Given the description of an element on the screen output the (x, y) to click on. 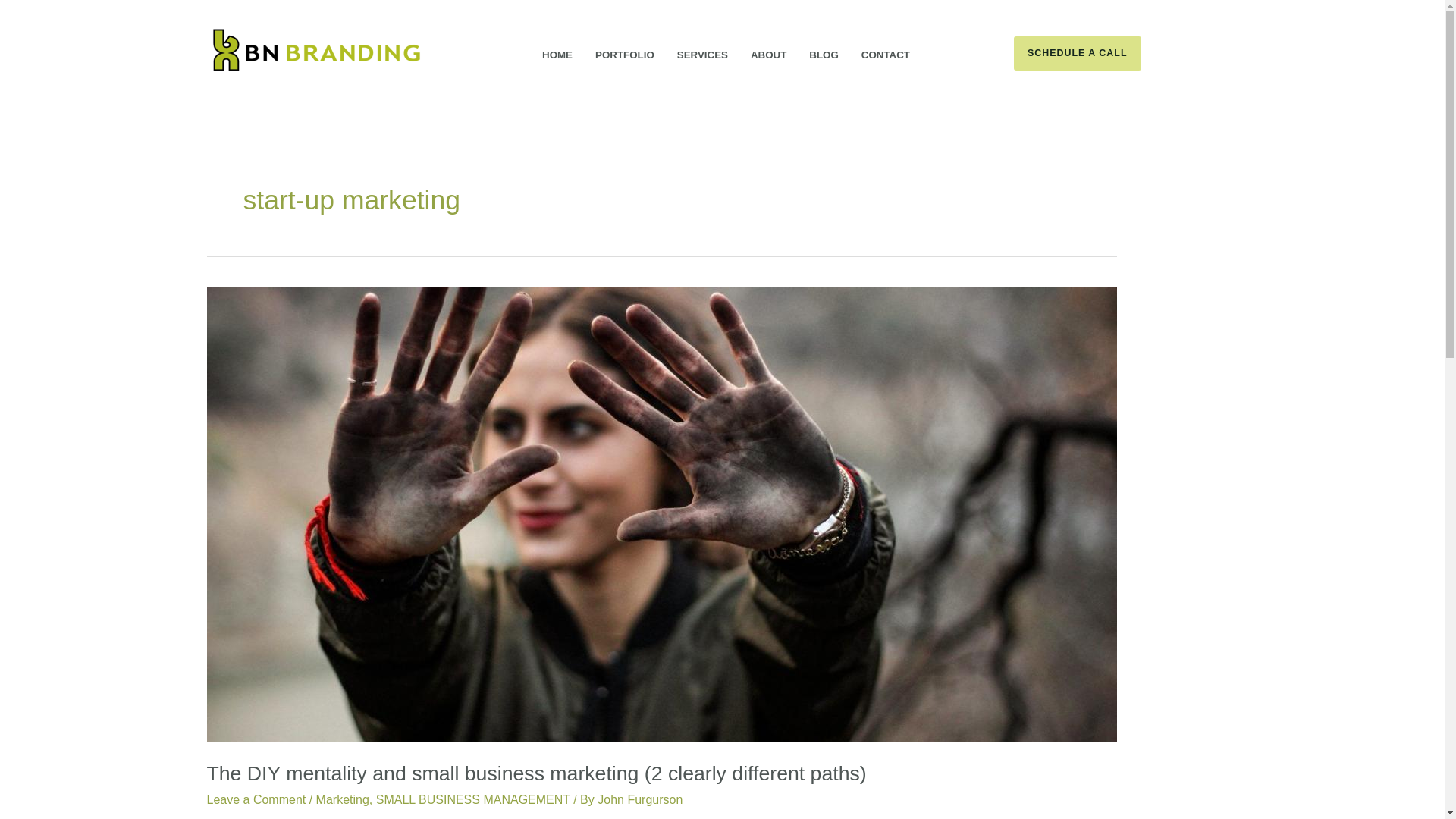
BLOG (819, 49)
HOME (553, 49)
View all posts by John Furgurson (639, 799)
Leave a Comment (255, 799)
PORTFOLIO (620, 49)
SMALL BUSINESS MANAGEMENT (472, 799)
Marketing (342, 799)
SCHEDULE A CALL (1124, 53)
John Furgurson (639, 799)
CONTACT (881, 49)
ABOUT (764, 49)
SERVICES (698, 49)
